Given the description of an element on the screen output the (x, y) to click on. 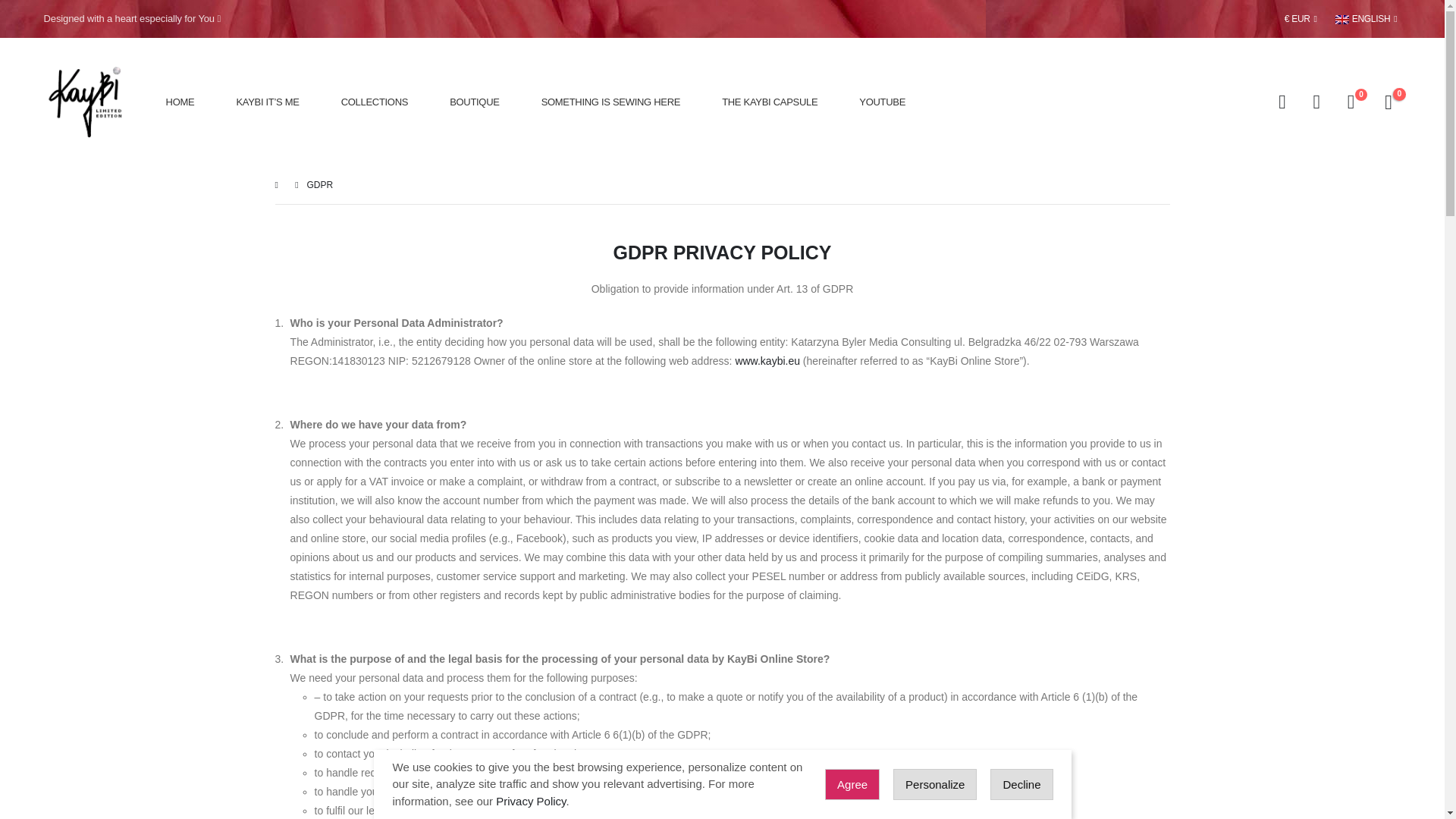
ENGLISH (1366, 18)
YOUTUBE (882, 102)
HOME (180, 102)
KayBi - Zaprojektowane z sercem specjalnie dla Ciebie (89, 102)
My Account (1315, 102)
BOUTIQUE (474, 102)
Wishlist (1350, 102)
SOMETHING IS SEWING HERE (610, 102)
THE KAYBI CAPSULE (769, 102)
COLLECTIONS (374, 102)
